Given the description of an element on the screen output the (x, y) to click on. 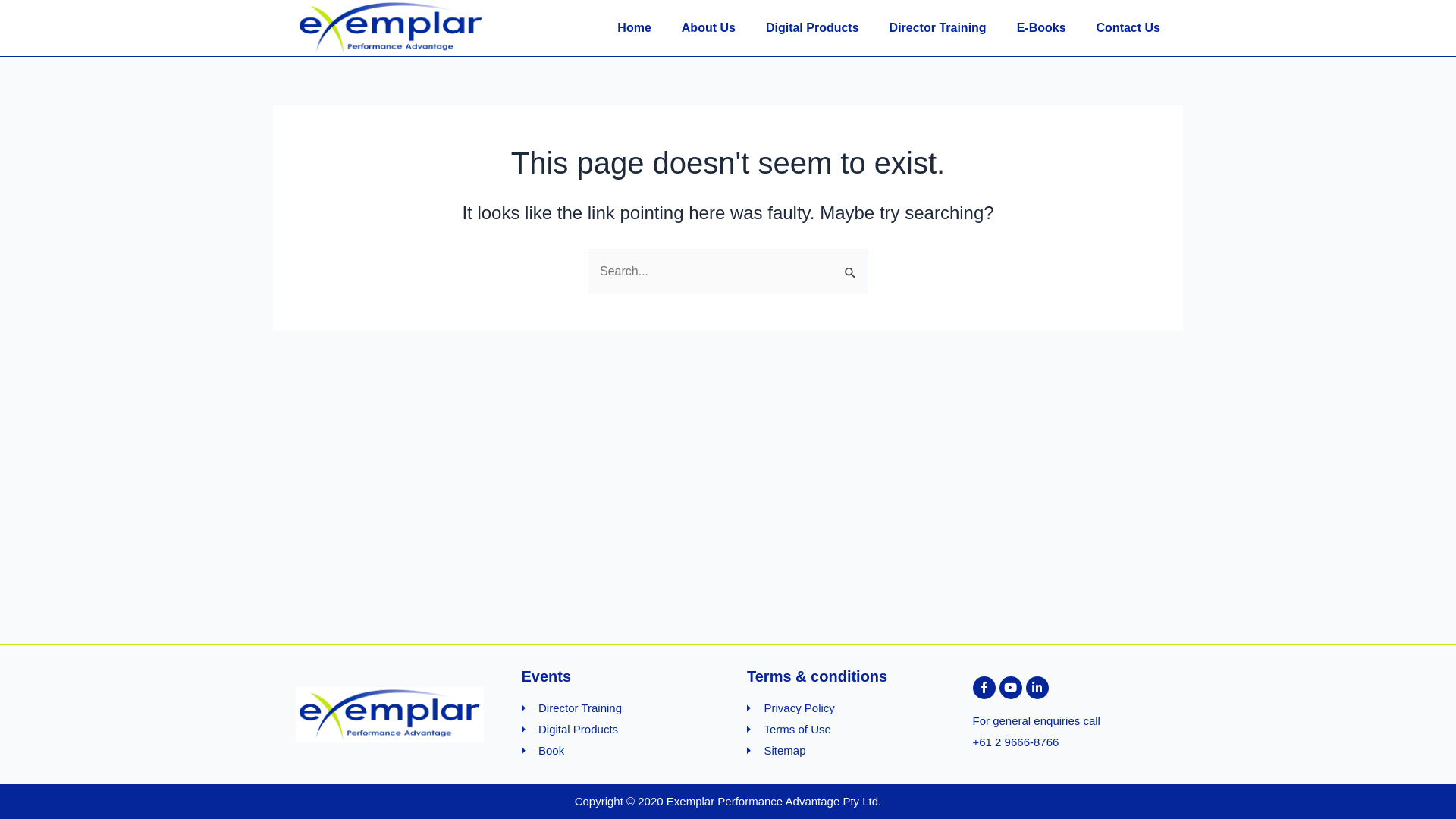
About Us Element type: text (708, 27)
E-Books Element type: text (1041, 27)
Youtube Element type: text (1010, 687)
Contact Us Element type: text (1128, 27)
Sitemap Element type: text (840, 750)
Privacy Policy Element type: text (840, 707)
Home Element type: text (633, 27)
For general enquiries call
+61 2 9666-8766 Element type: text (1066, 731)
Book Element type: text (615, 750)
Linkedin-in Element type: text (1036, 687)
Digital Products Element type: text (812, 27)
Director Training Element type: text (937, 27)
Search Element type: text (851, 264)
Facebook-f Element type: text (983, 687)
Director Training Element type: text (615, 707)
Digital Products Element type: text (615, 729)
Terms of Use Element type: text (840, 729)
